Given the description of an element on the screen output the (x, y) to click on. 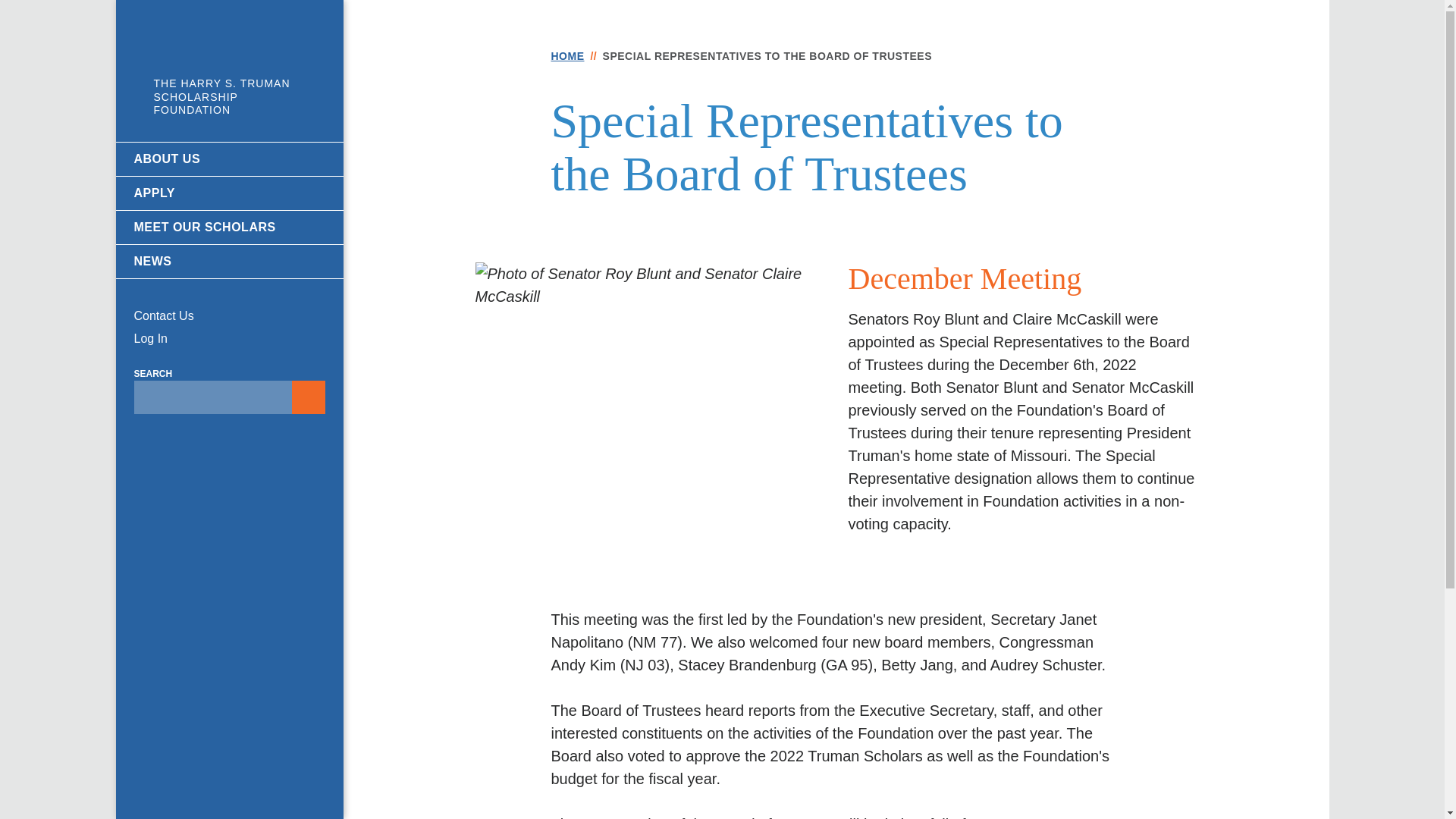
Skip to main content (721, 6)
Search (212, 397)
ABOUT US (228, 159)
Search (307, 397)
THE HARRY S. TRUMAN SCHOLARSHIP FOUNDATION (228, 67)
Home (228, 67)
Search (307, 397)
APPLY (228, 192)
